Given the description of an element on the screen output the (x, y) to click on. 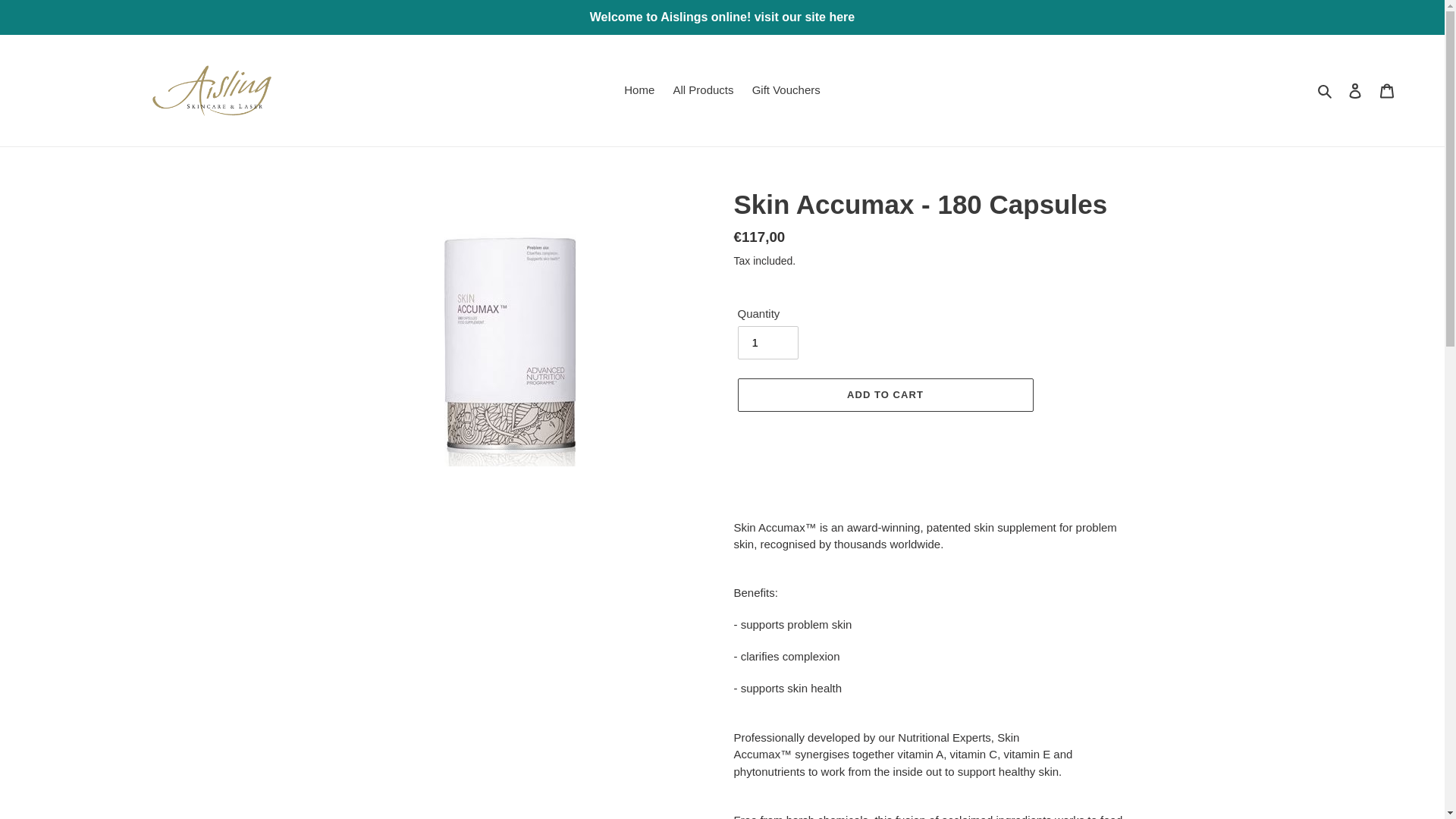
Cart (1387, 90)
Gift Vouchers (786, 90)
ADD TO CART (884, 394)
1 (766, 342)
Home (638, 90)
Search (1326, 90)
All Products (703, 90)
Log in (1355, 90)
